Given the description of an element on the screen output the (x, y) to click on. 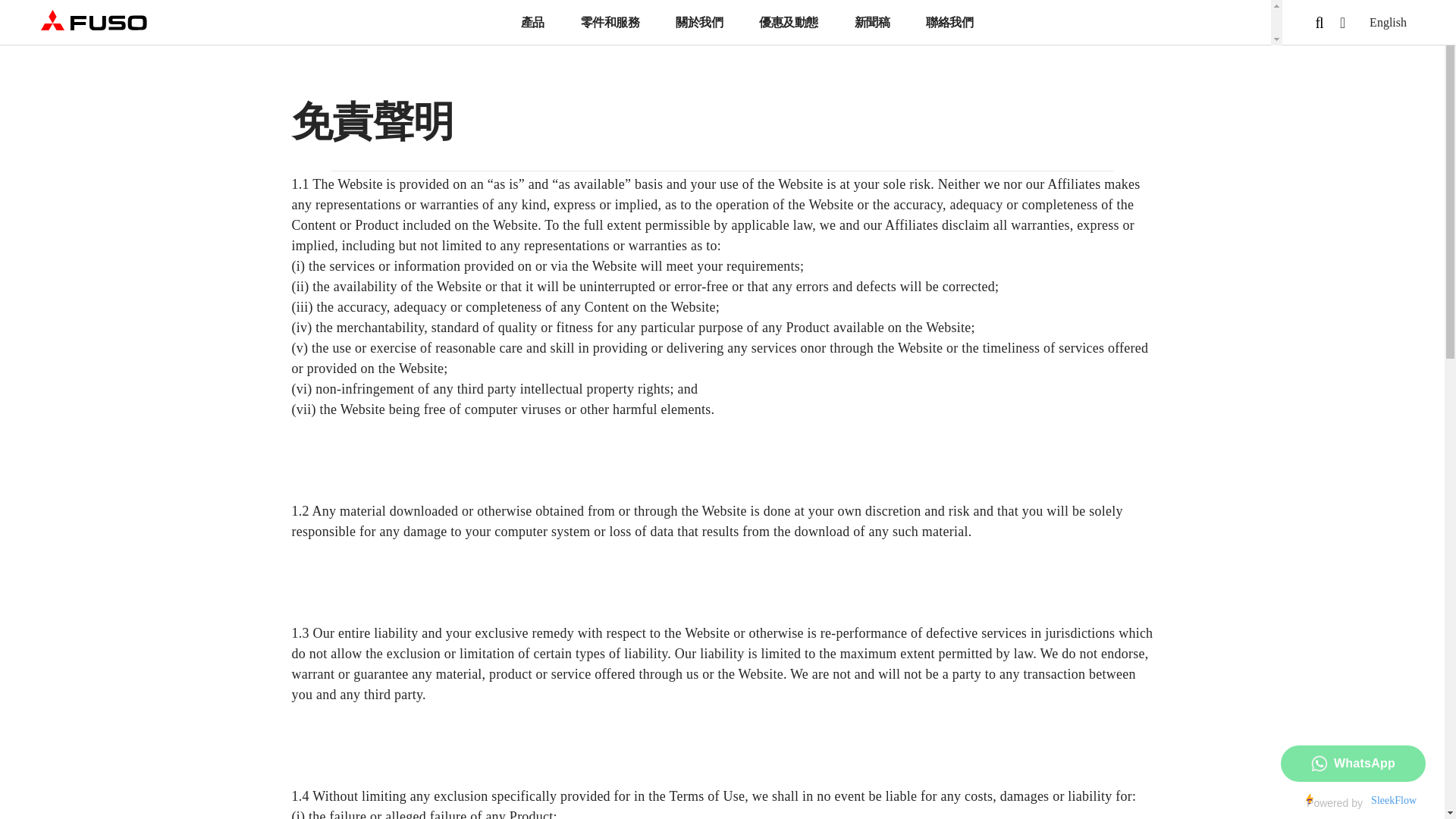
English (1387, 21)
